Given the description of an element on the screen output the (x, y) to click on. 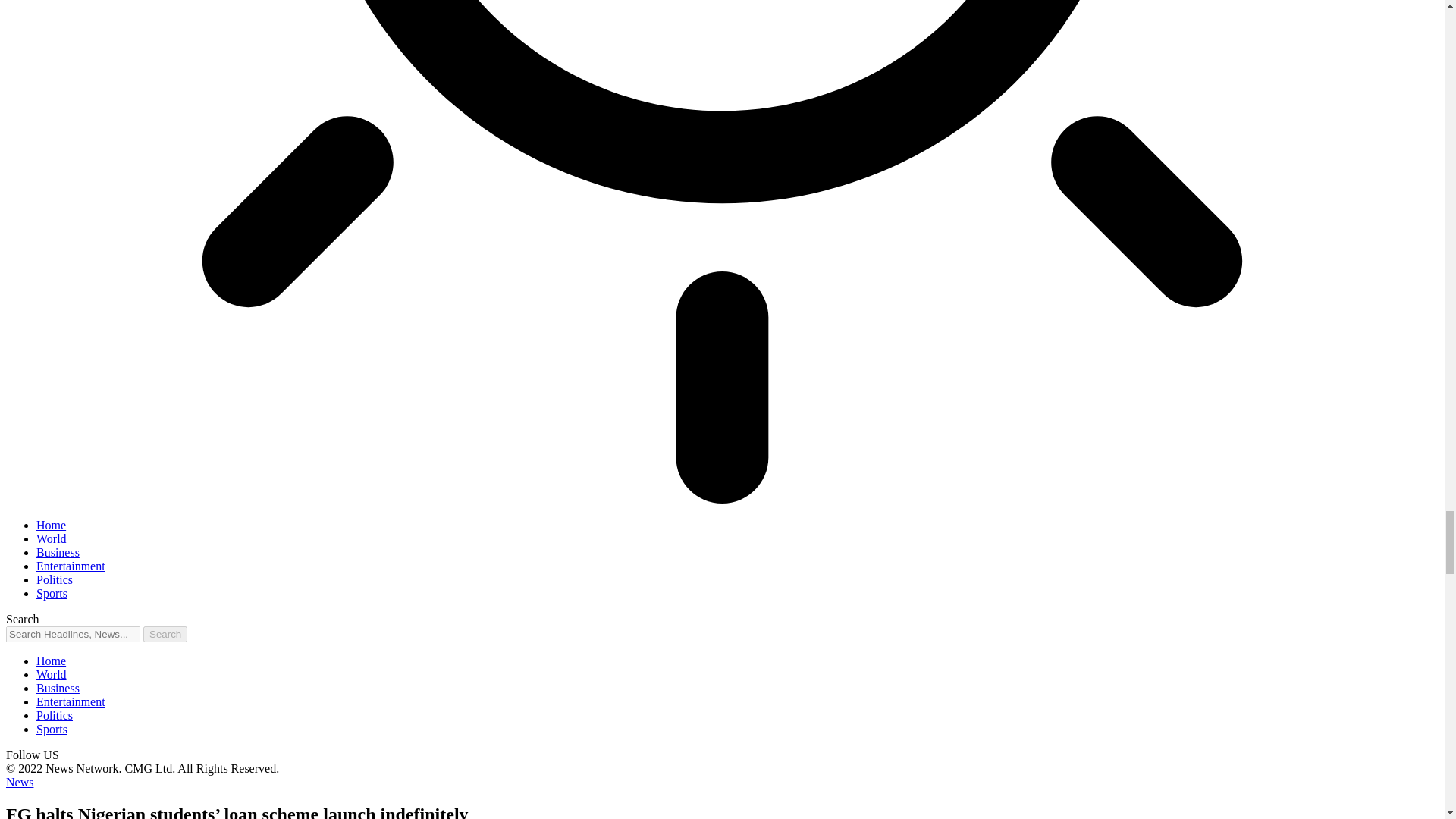
Search (164, 634)
